Given the description of an element on the screen output the (x, y) to click on. 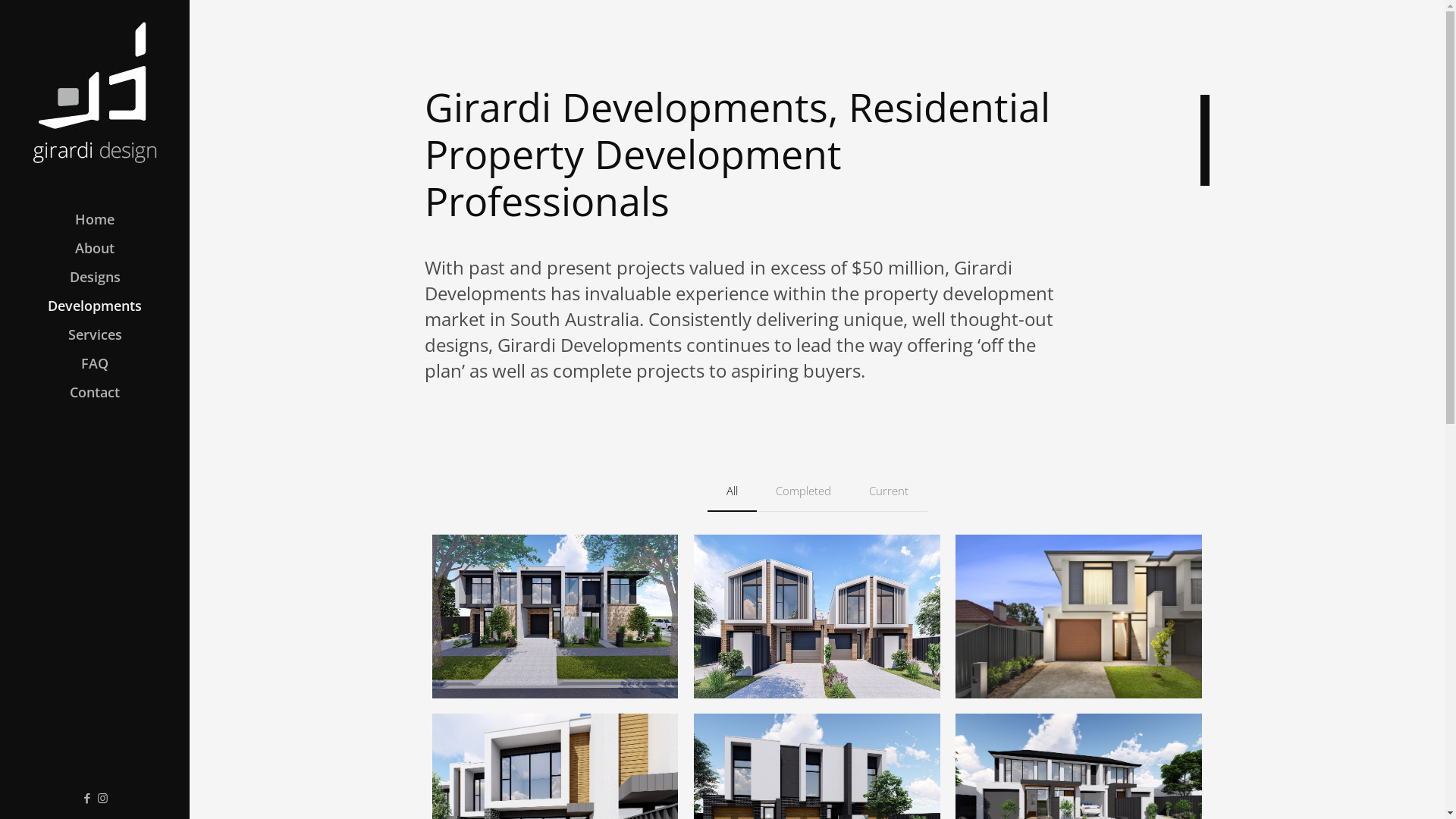
FAQ Element type: text (94, 362)
Contact Element type: text (94, 391)
Home Element type: text (94, 218)
Designs Element type: text (94, 276)
Completed Element type: text (803, 490)
Services Element type: text (94, 334)
Girardi Design Element type: hover (94, 91)
Instagram Element type: hover (102, 797)
About Element type: text (94, 247)
Facebook Element type: hover (86, 797)
Current Element type: text (887, 490)
All Element type: text (731, 490)
Developments Element type: text (94, 305)
